Given the description of an element on the screen output the (x, y) to click on. 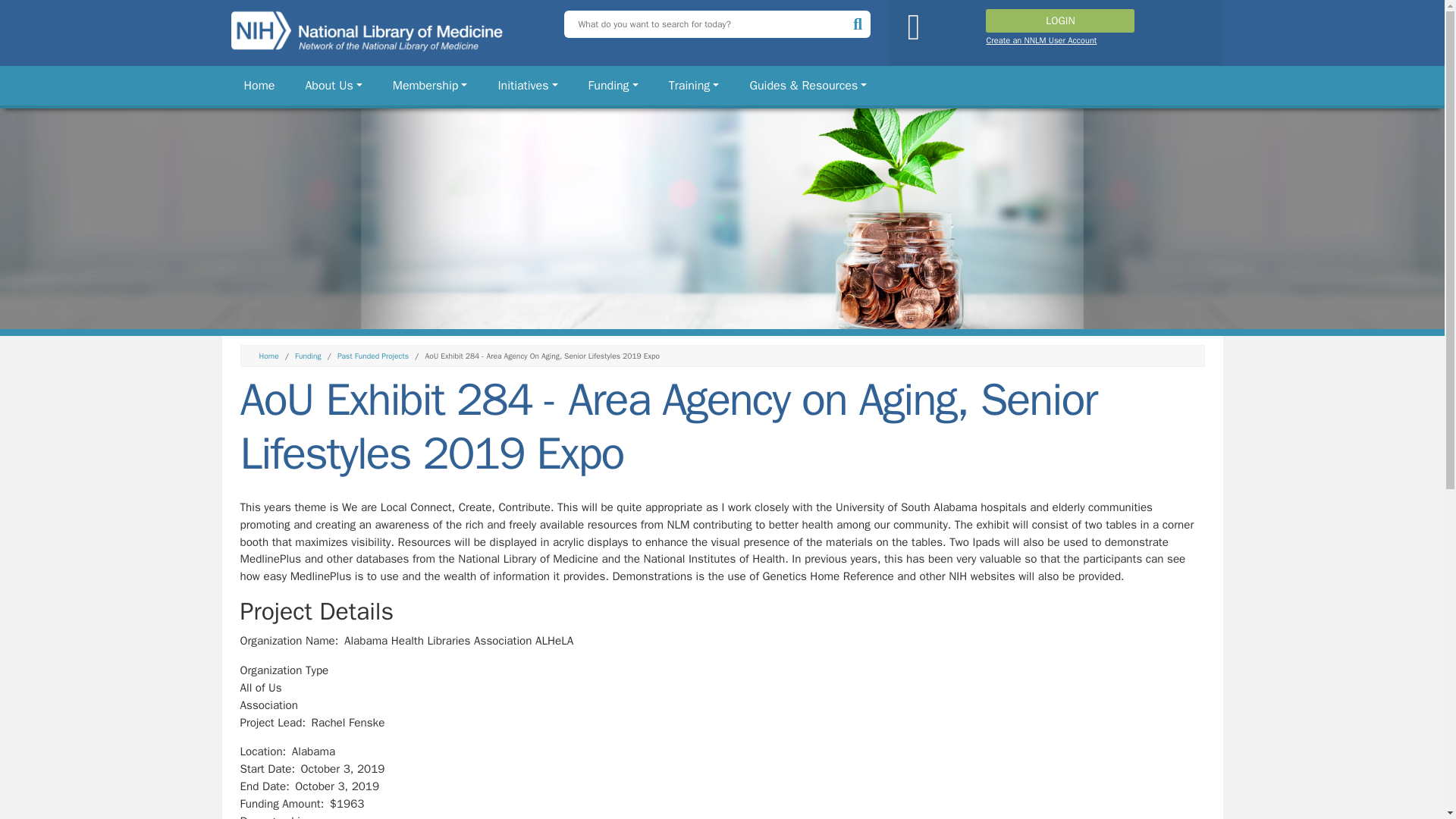
Membership (430, 85)
Home (259, 85)
Create an NNLM User Account (1040, 40)
LOGIN (1059, 20)
NNLM Search Button (859, 22)
About Us (333, 85)
